Given the description of an element on the screen output the (x, y) to click on. 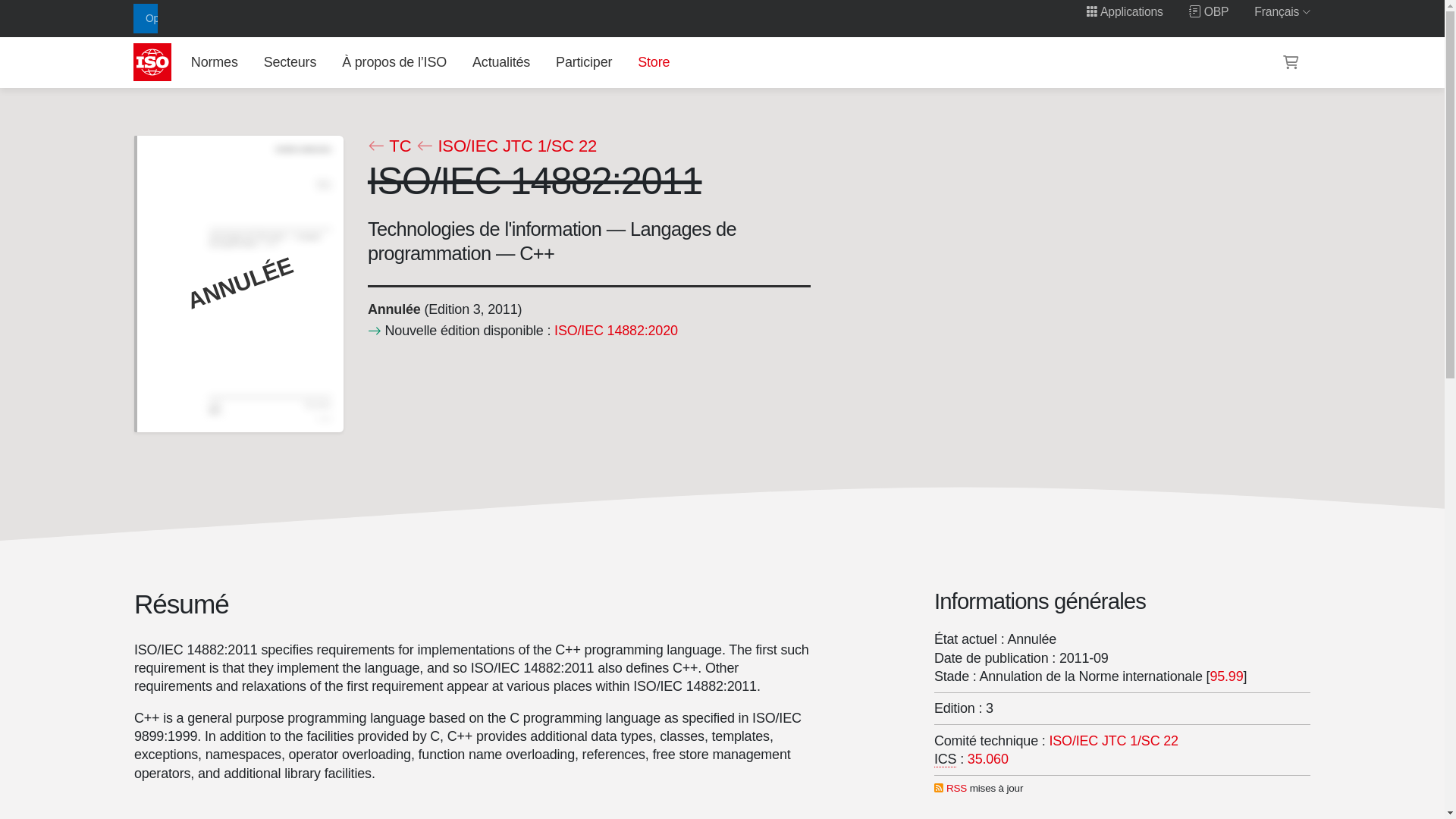
Plateforme de consultation en ligne (1208, 11)
Portail des applications de l'ISO (1124, 11)
RSS (956, 787)
Normes (214, 60)
95.99 (1226, 676)
35.060 (988, 758)
Panier d'achat (1290, 62)
Secteurs (290, 60)
95.99 (1226, 676)
Cycle de vie (393, 309)
